Given the description of an element on the screen output the (x, y) to click on. 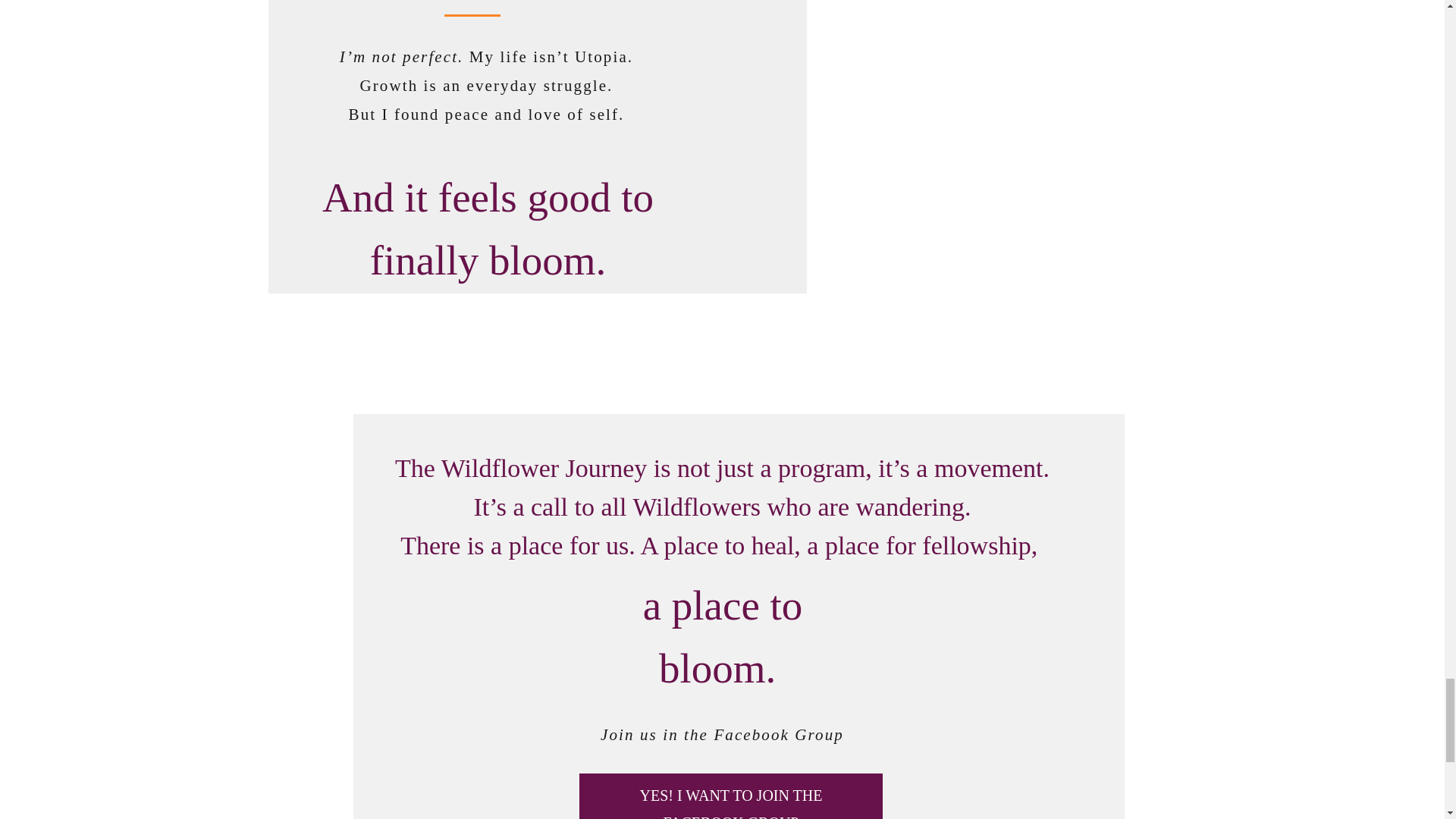
YES! I WANT TO JOIN THE FACEBOOK GROUP (730, 800)
